Given the description of an element on the screen output the (x, y) to click on. 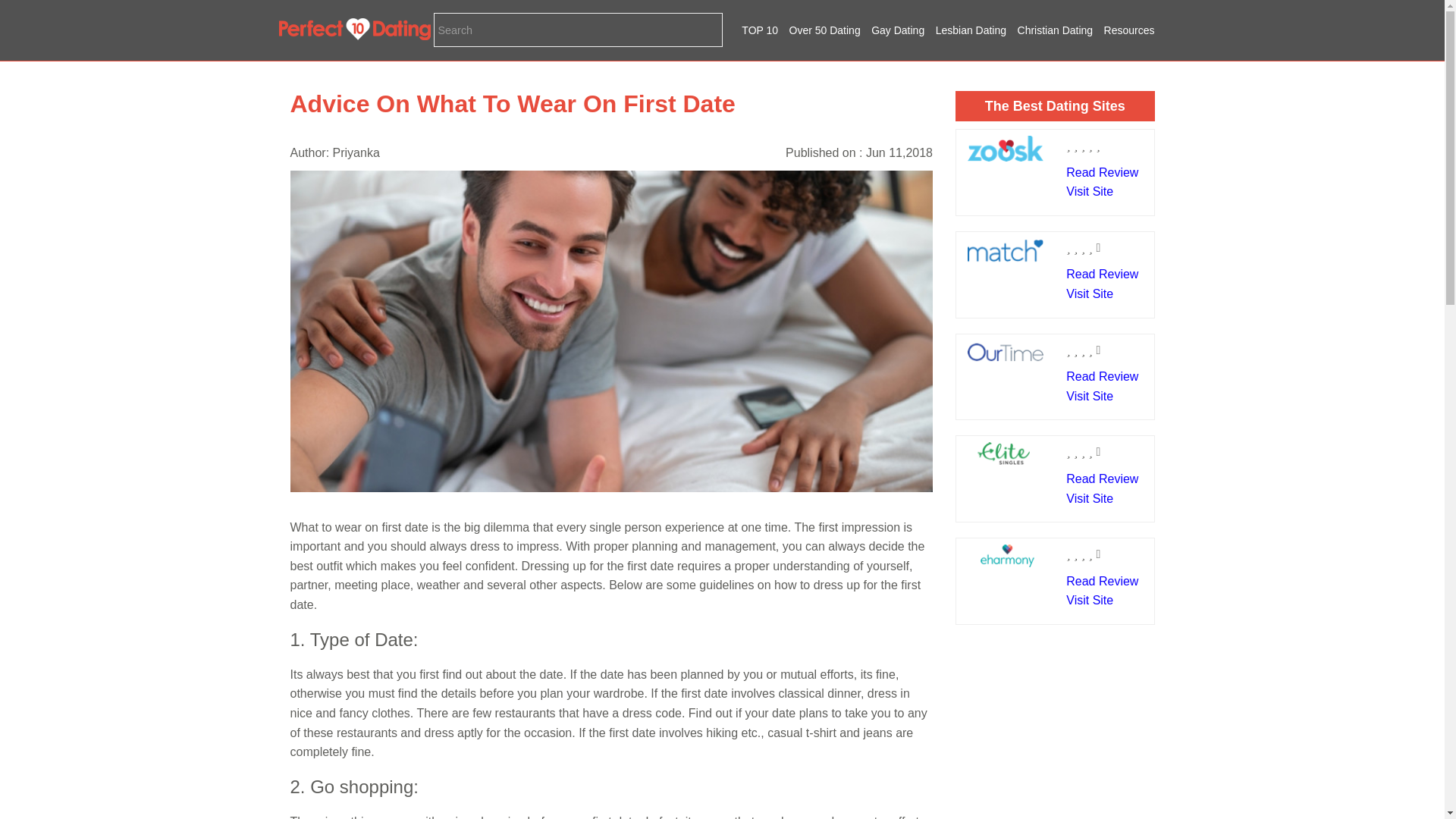
Read Review (1101, 172)
Read Review (1101, 376)
Read Review (1101, 478)
Read Review (1101, 273)
Visit Site (1089, 599)
Lesbian Dating (971, 30)
Visit Site (1089, 293)
Visit Site (1089, 191)
Christian Dating (1055, 30)
Read Review (1101, 581)
Visit Site (1089, 498)
Over 50 Dating (824, 30)
Visit Site (1089, 395)
